Given the description of an element on the screen output the (x, y) to click on. 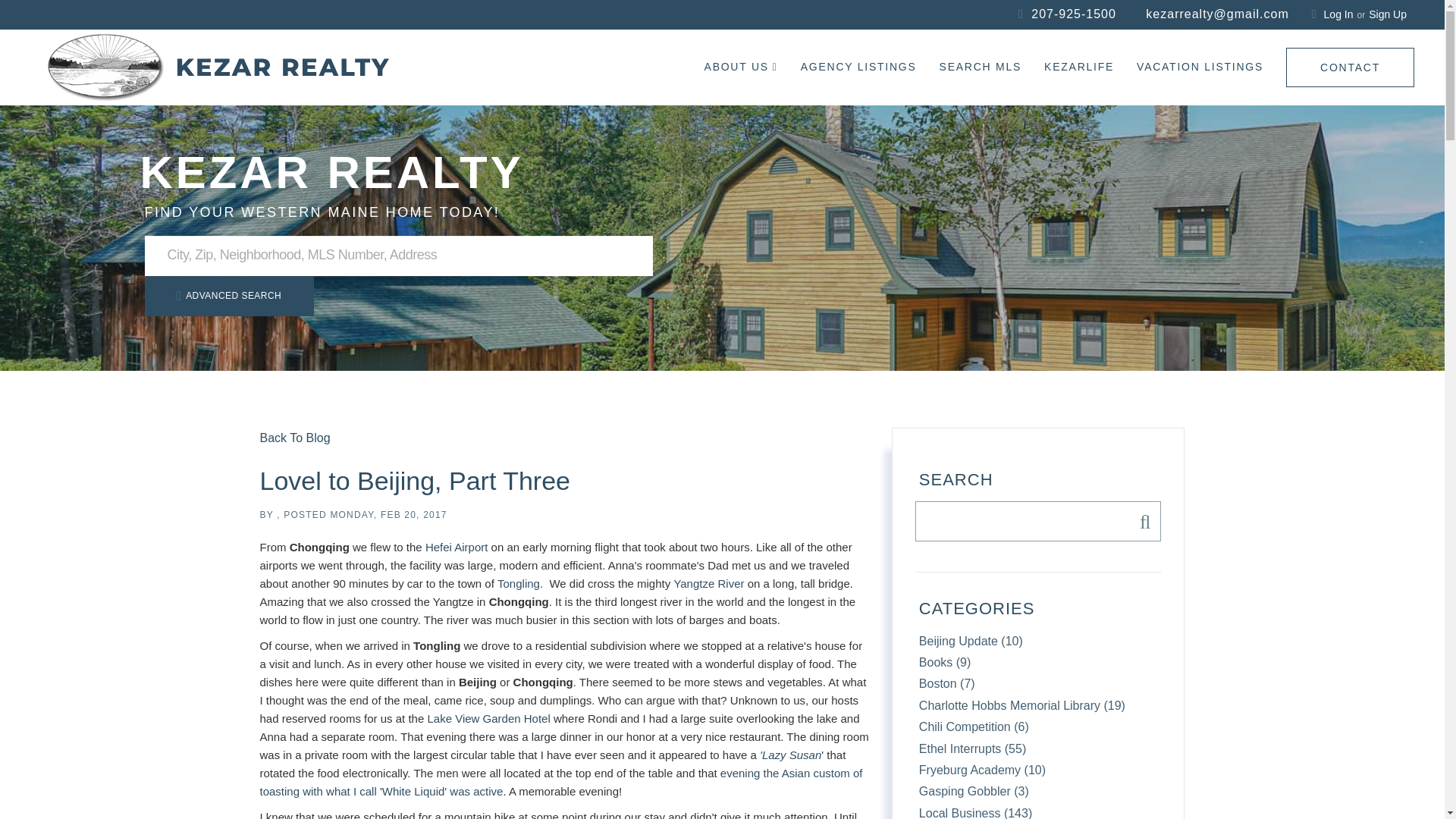
VACATION LISTINGS (1200, 66)
ADVANCED SEARCH (228, 296)
KEZARLIFE (1078, 66)
CONTACT (1350, 67)
ABOUT US (740, 66)
207-925-1500 (1077, 13)
Search (1140, 521)
Log In (1338, 14)
SEARCH MLS (980, 66)
AGENCY LISTINGS (858, 66)
Sign Up (1387, 14)
Back To Blog (294, 437)
